Given the description of an element on the screen output the (x, y) to click on. 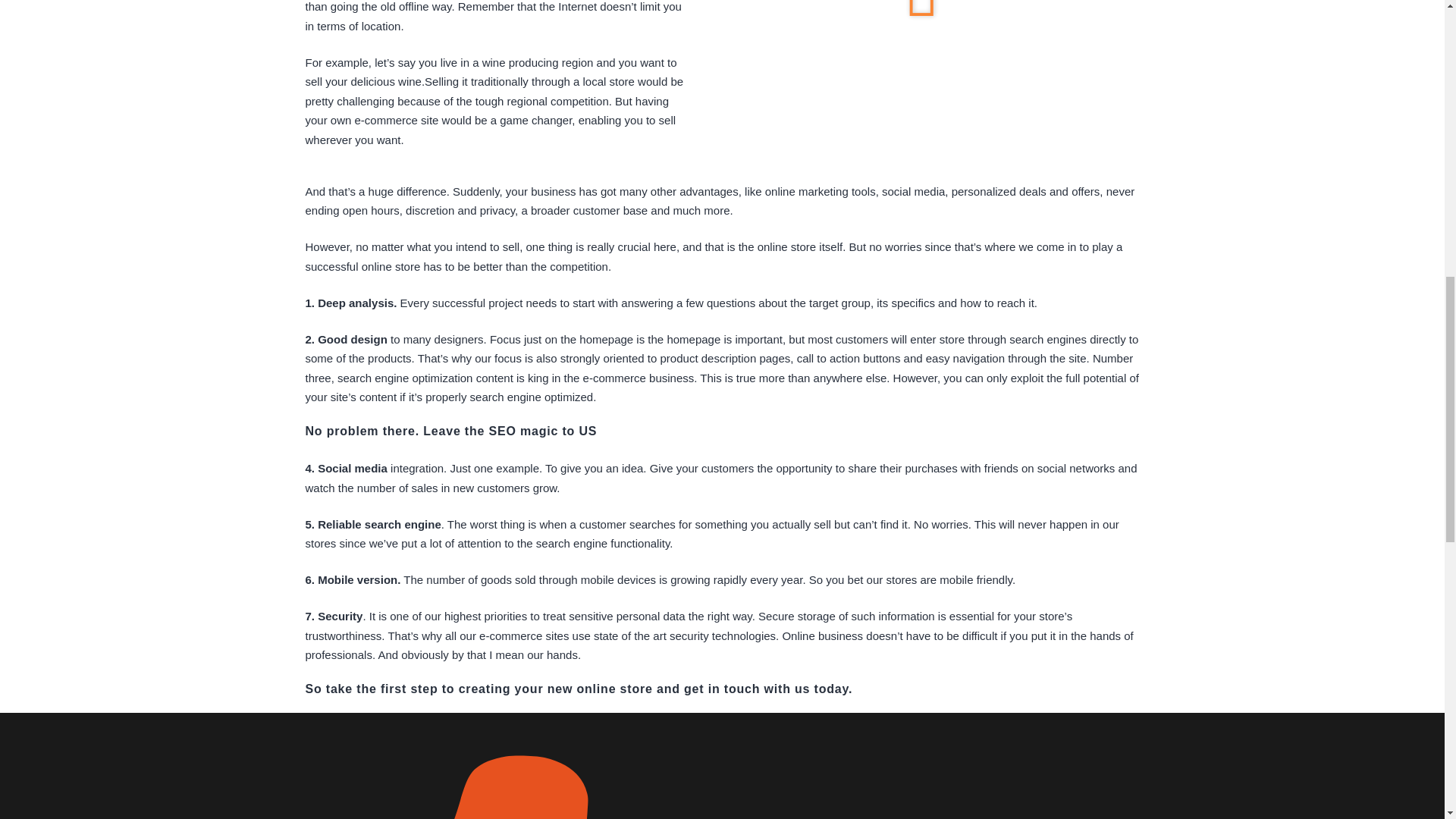
Web development explainer 8 (922, 53)
